Given the description of an element on the screen output the (x, y) to click on. 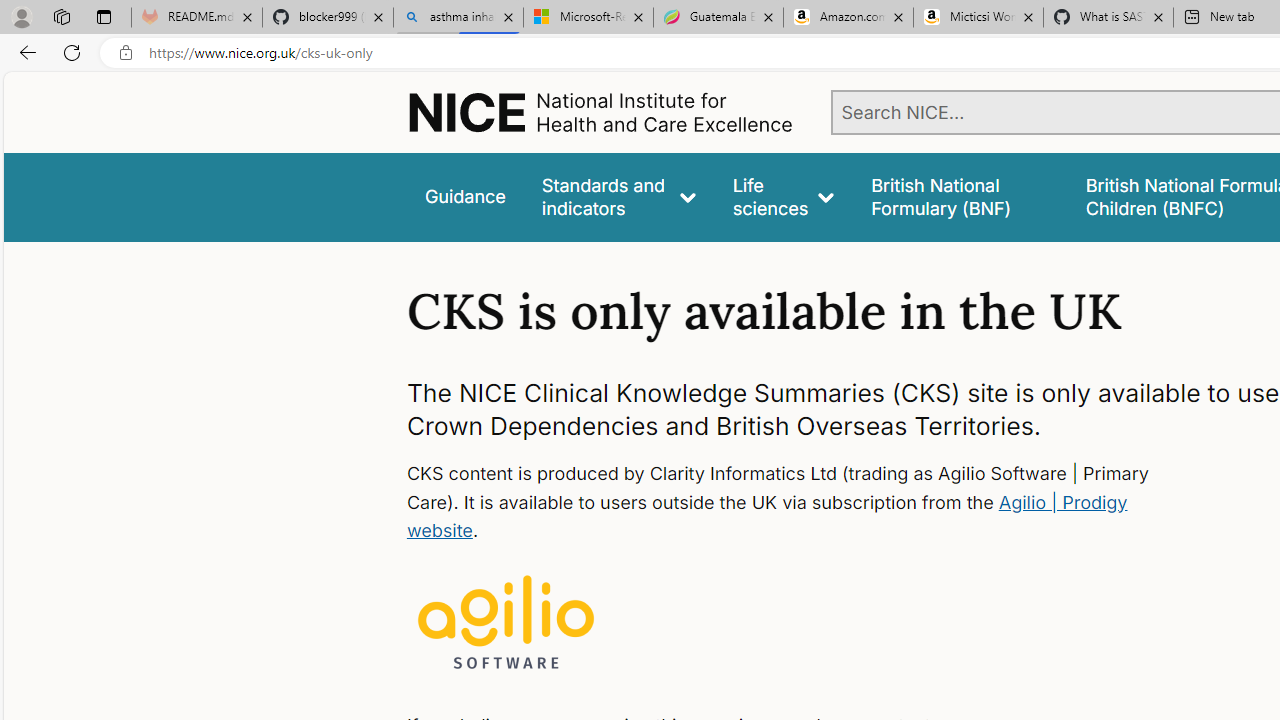
Life sciences (783, 196)
Logo for Clarity Consulting (505, 624)
Home (599, 112)
Microsoft-Report a Concern to Bing (587, 17)
View site information (125, 53)
false (959, 196)
Agilio | Prodigy website (766, 516)
Life sciences (783, 196)
Refresh (72, 52)
Tab actions menu (104, 16)
